Given the description of an element on the screen output the (x, y) to click on. 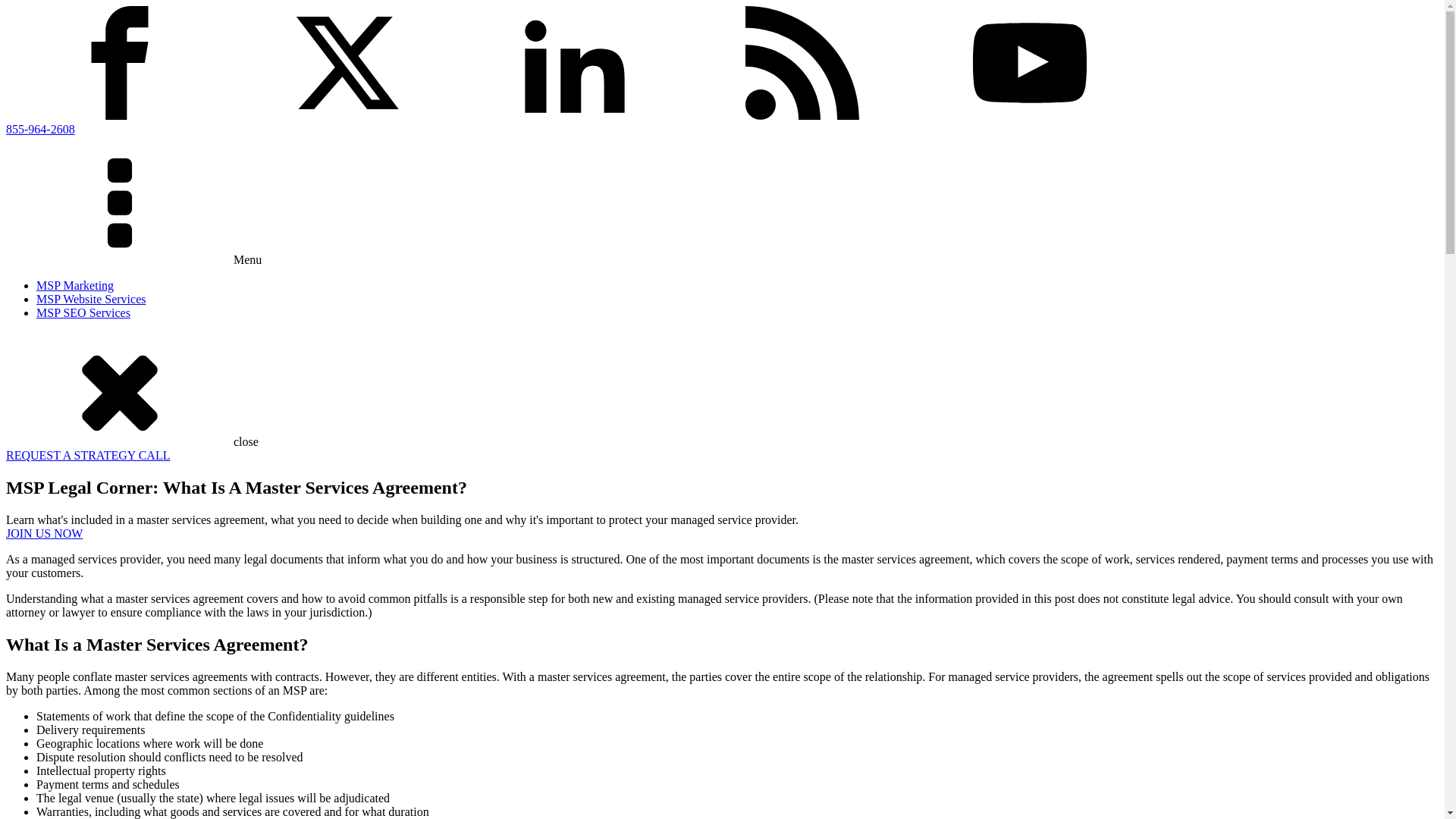
REQUEST A STRATEGY CALL (87, 454)
Visit our YouTube channel (1028, 62)
Visit our LinkedIn (574, 115)
JOIN US NOW (43, 533)
Visit our Twitter (346, 115)
MSP SEO Services (83, 312)
MSP Marketing (74, 285)
Visit our RSS feed (801, 62)
Visit our LinkedIn (574, 62)
MSP Website Services (90, 298)
